Given the description of an element on the screen output the (x, y) to click on. 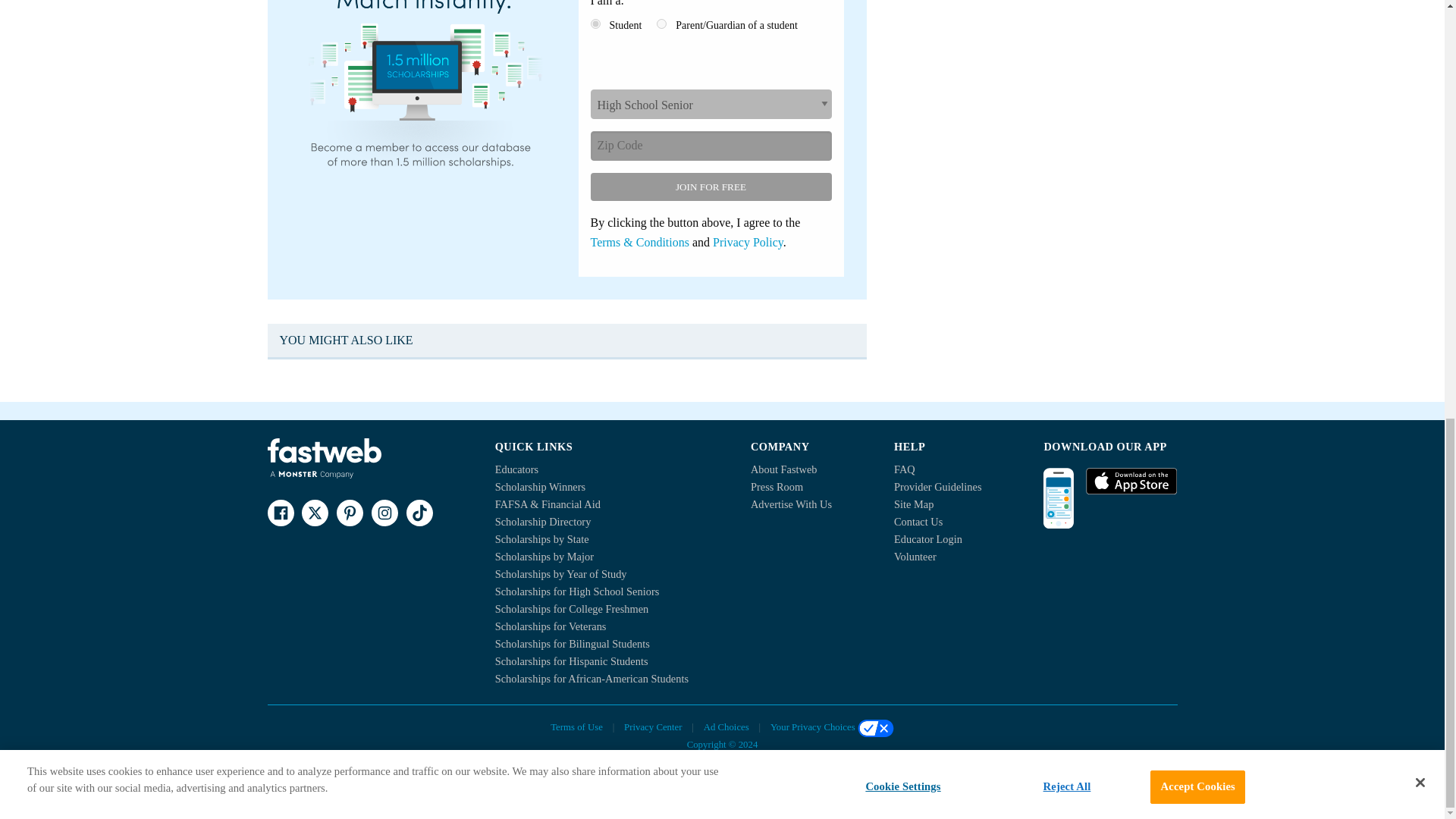
Fastweb on TikTok (419, 512)
Fastweb on Facebook (280, 512)
Fastweb on Instagram (384, 512)
Join for free (710, 186)
Fastweb on IOS (1131, 481)
2 (661, 23)
1 (594, 23)
Fastweb on Pinterest (349, 512)
